Given the description of an element on the screen output the (x, y) to click on. 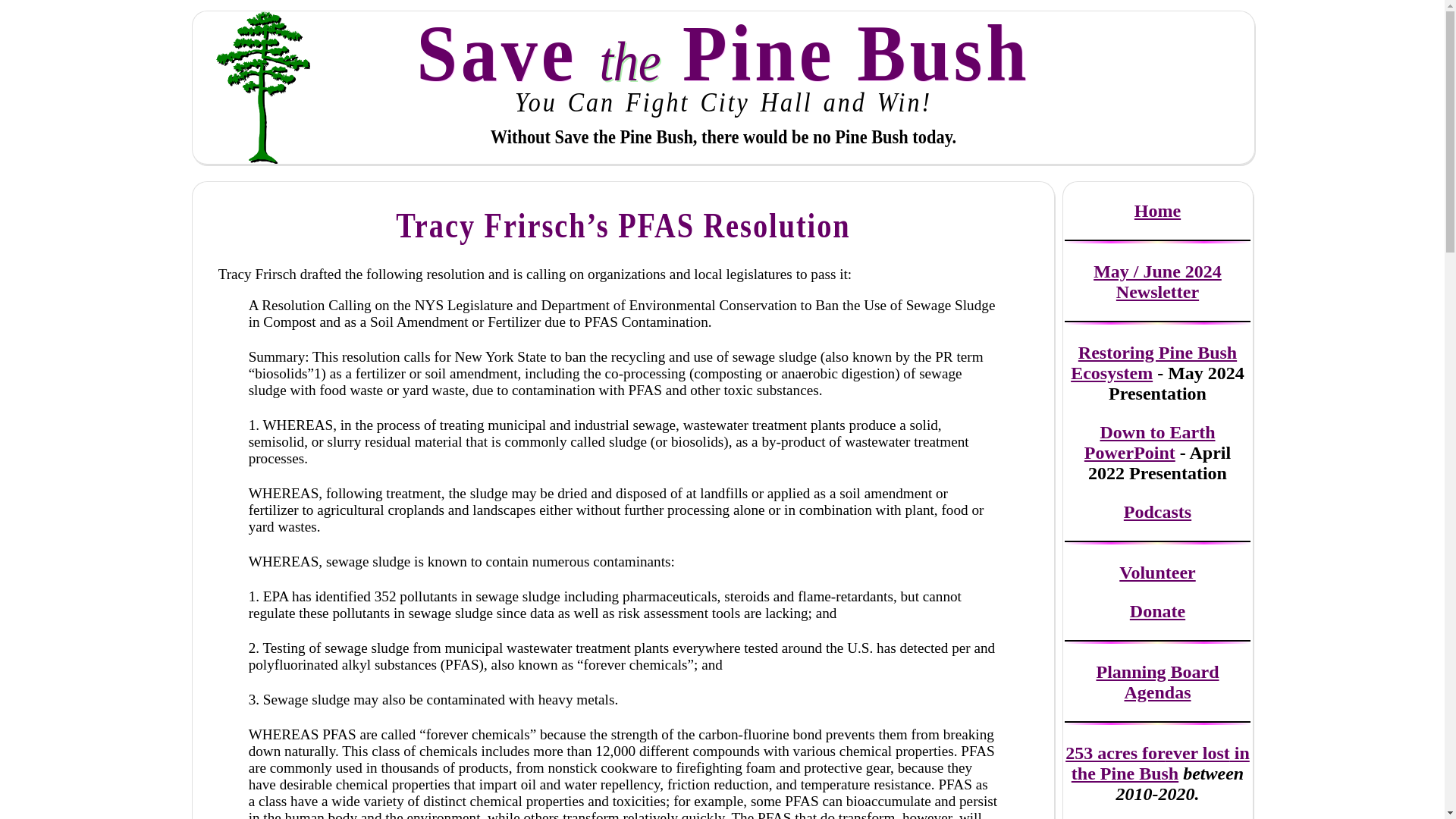
Podcasts (1157, 511)
Down to Earth PowerPoint (1149, 442)
Donate (1157, 610)
Save the Pine Bush (722, 49)
253 acres fo (1111, 752)
Home (1157, 210)
ever lost in the Pine Bush (1160, 762)
Planning Board Agendas (1157, 681)
Restoring Pine Bush Ecosystem (1153, 363)
Search (21, 7)
